Given the description of an element on the screen output the (x, y) to click on. 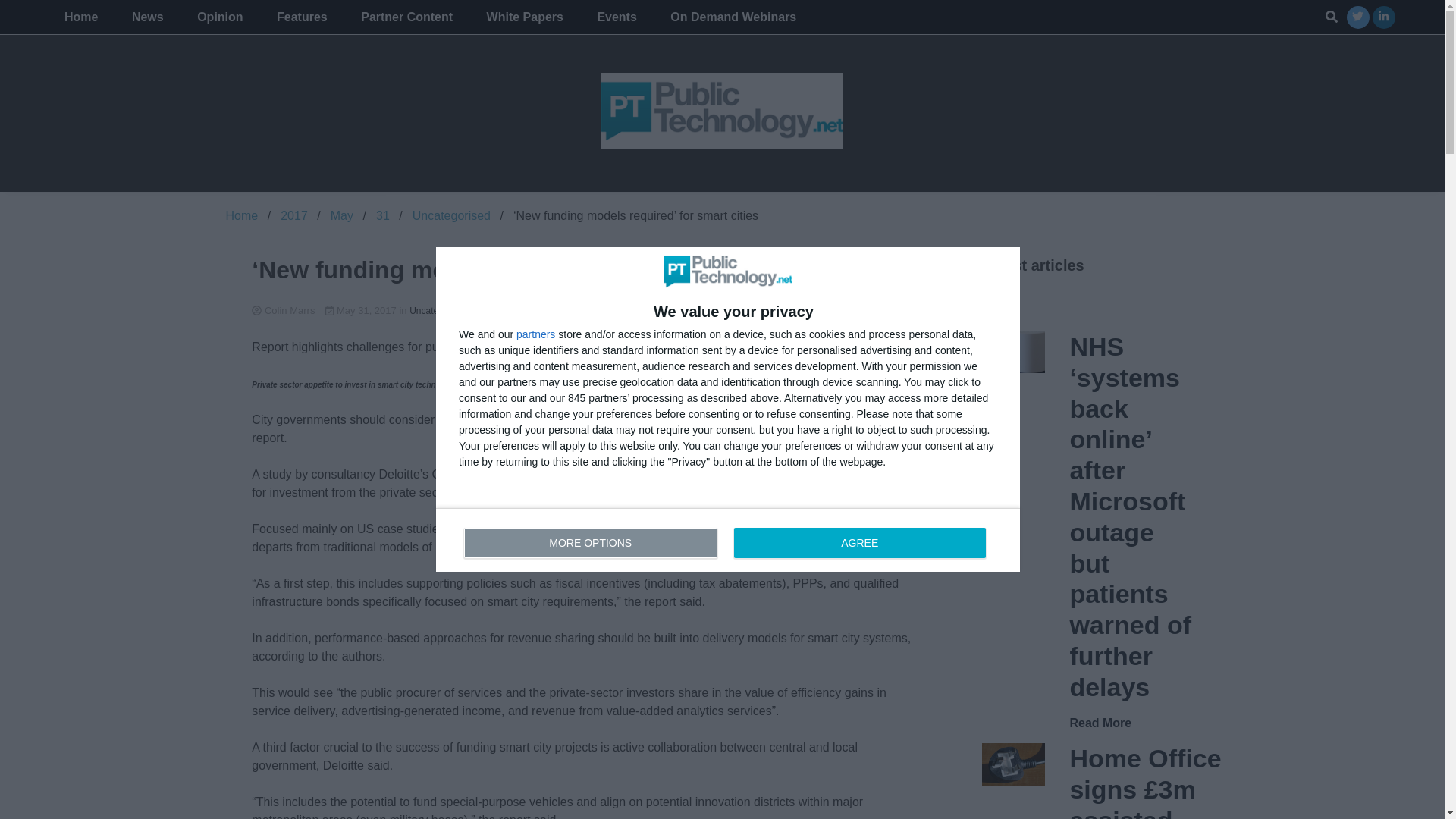
On Demand Webinars (732, 17)
Opinion (219, 17)
May (341, 215)
Home (727, 539)
Tech (242, 215)
News (573, 310)
Partner Content (147, 17)
Estimated Reading Time of Article (406, 17)
White Papers (682, 310)
2017 (524, 17)
Uncategorised (294, 215)
AGREE (451, 215)
May 31, 2017 (859, 542)
Uncategorised (361, 310)
